Given the description of an element on the screen output the (x, y) to click on. 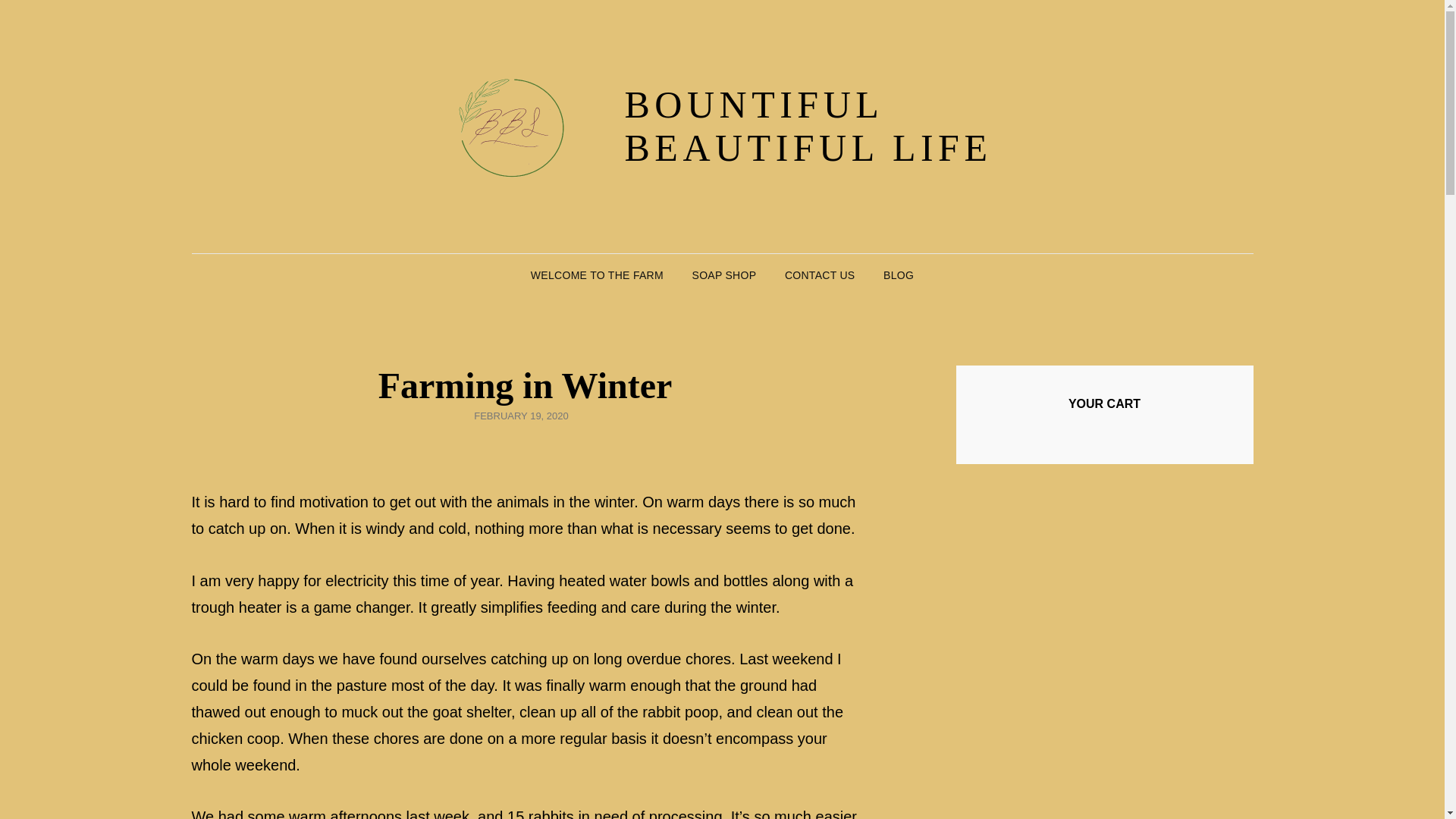
BOUNTIFUL BEAUTIFUL LIFE (808, 126)
BLOG (898, 274)
SOAP SHOP (723, 274)
WELCOME TO THE FARM (596, 274)
FEBRUARY 19, 2020 (521, 415)
CONTACT US (820, 274)
